Given the description of an element on the screen output the (x, y) to click on. 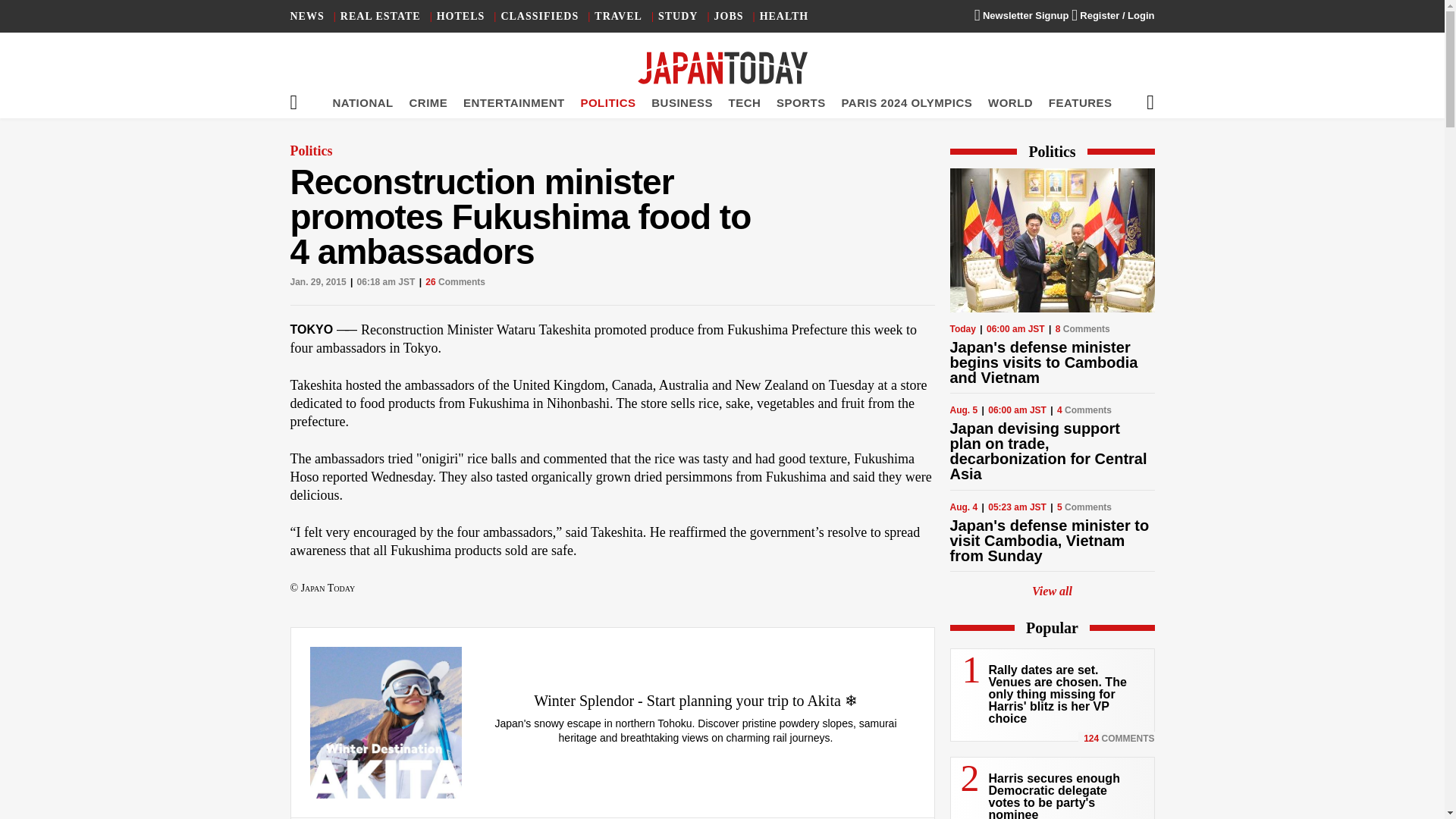
JOBS (729, 16)
CLASSIFIEDS (539, 16)
TRAVEL (618, 16)
NATIONAL (362, 102)
WORLD (1010, 102)
Newsletter Signup (1021, 15)
HOTELS (460, 16)
